Given the description of an element on the screen output the (x, y) to click on. 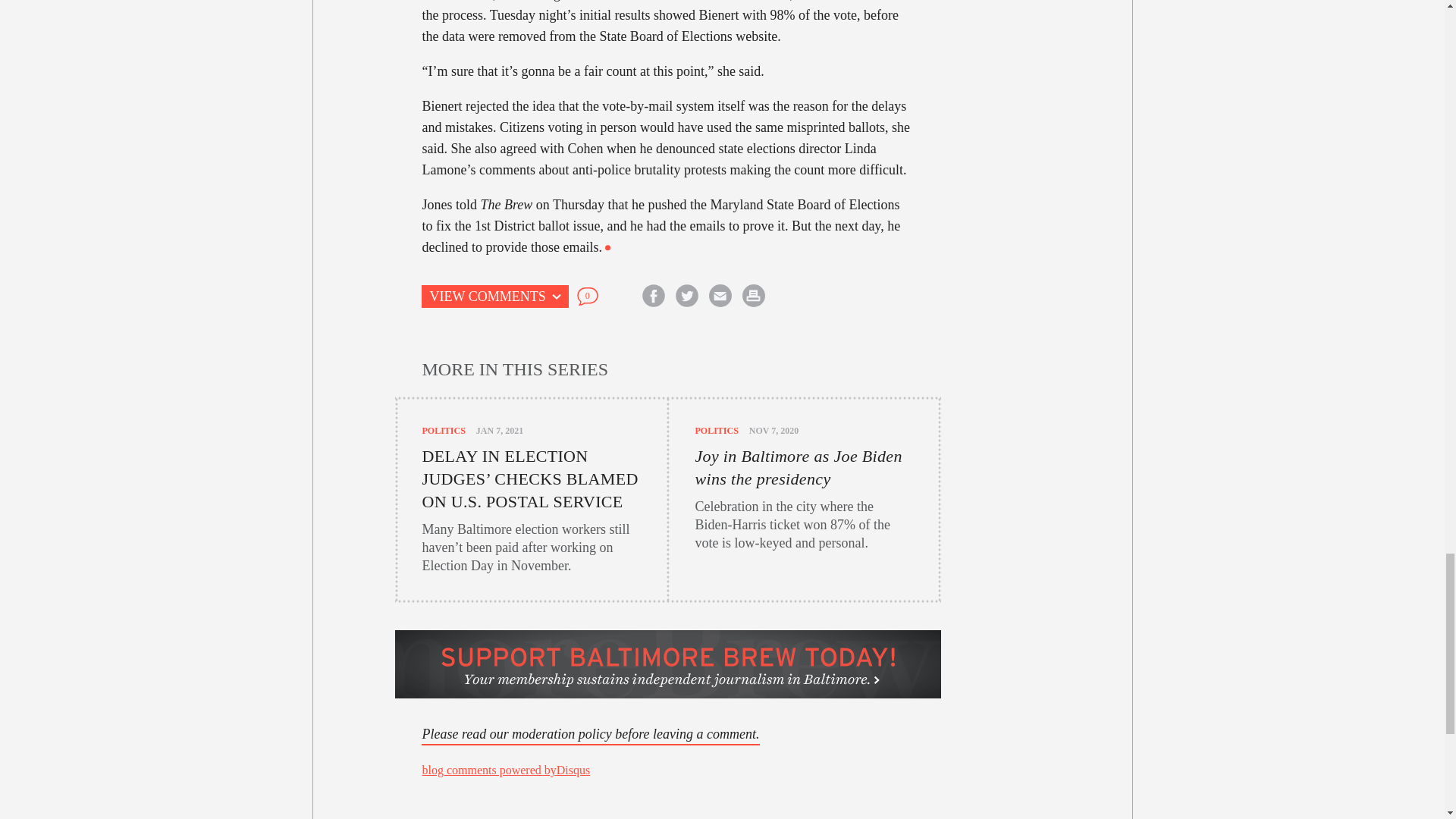
Print this article (753, 295)
Share on Facebook (653, 295)
POLITICS (443, 430)
Email this article (719, 295)
Please read our moderation policy before leaving a comment. (590, 734)
blog comments powered byDisqus (505, 769)
POLITICS (716, 430)
VIEW COMMENTS0 (531, 296)
Share on Twitter (686, 295)
